Given the description of an element on the screen output the (x, y) to click on. 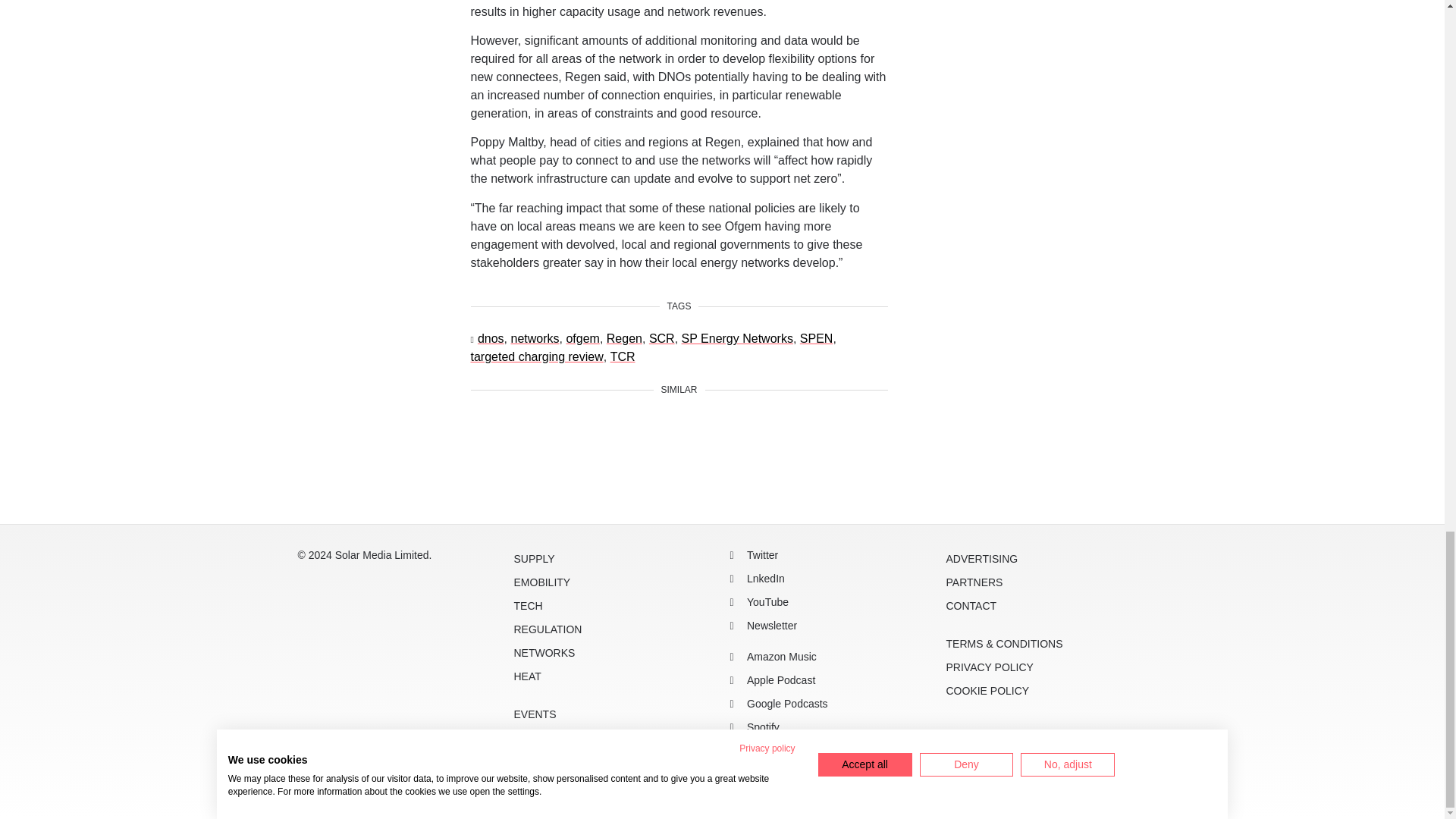
3rd party ad content (721, 474)
networks (535, 339)
dnos (490, 339)
